Given the description of an element on the screen output the (x, y) to click on. 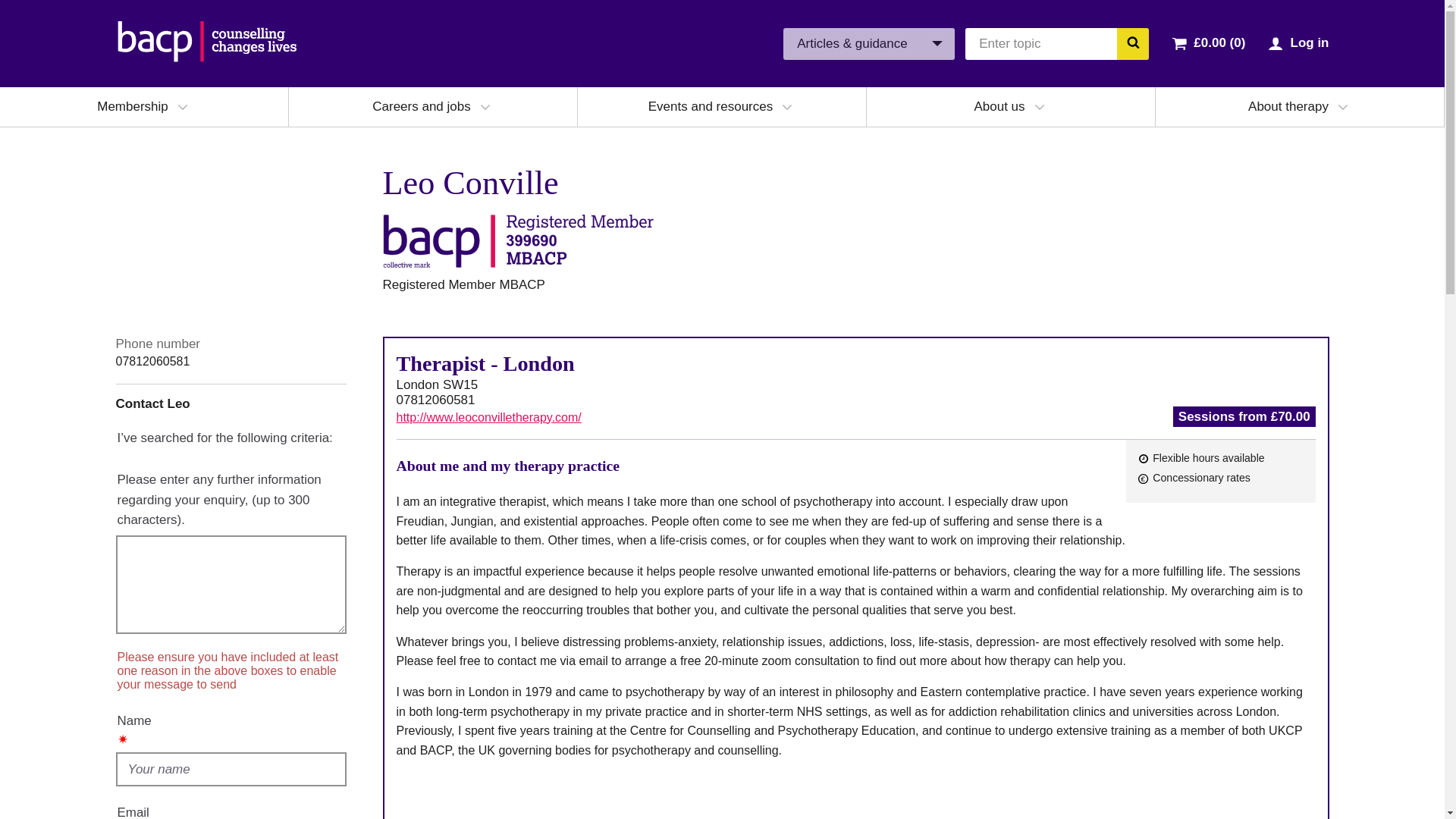
Membership (132, 106)
Log in (1309, 42)
Events and resources (710, 106)
Careers and jobs (421, 106)
Search the BACP website (1132, 42)
